Given the description of an element on the screen output the (x, y) to click on. 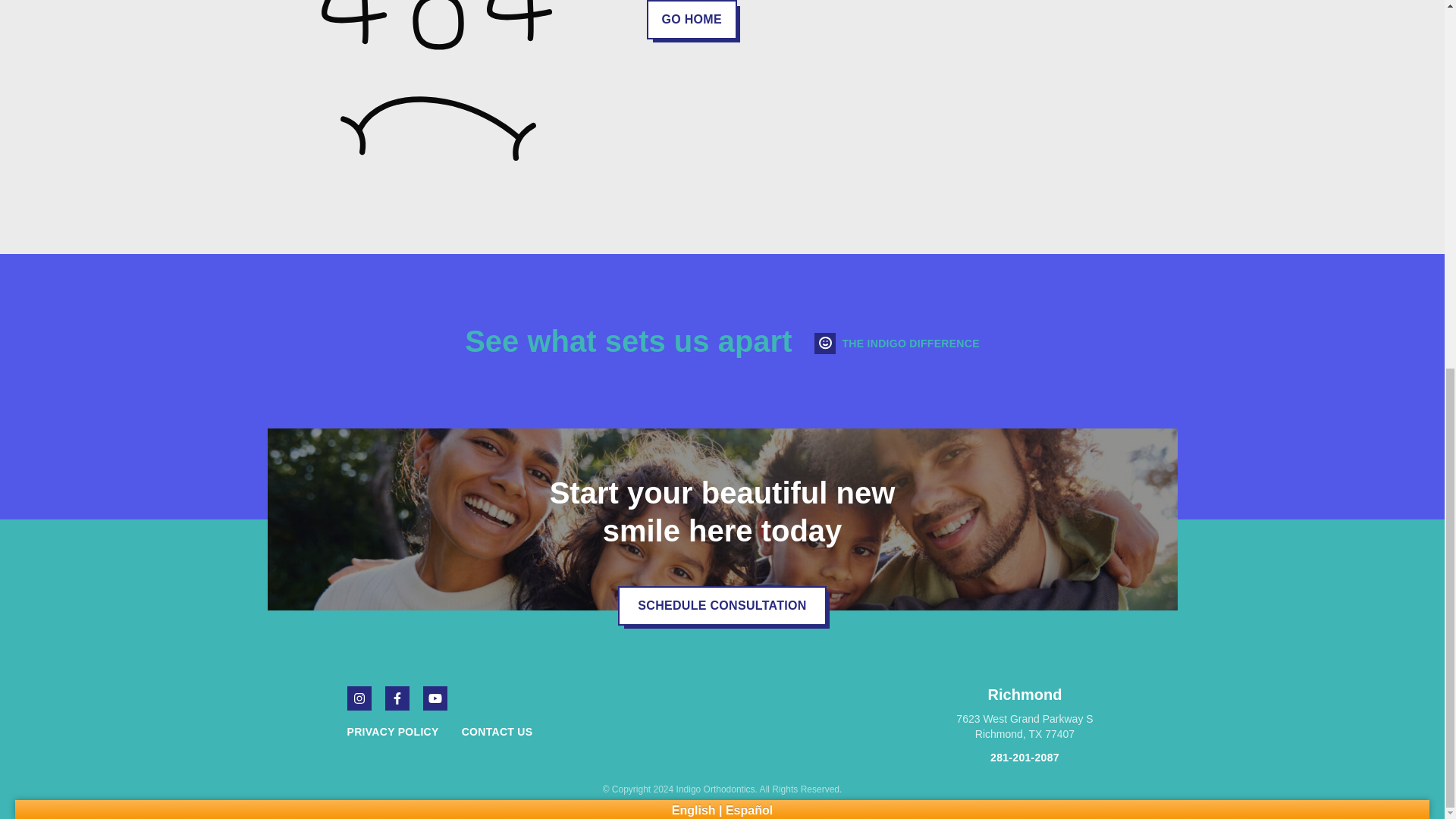
281-201-2087 (1024, 757)
SCHEDULE CONSULTATION (722, 605)
GO HOME (1024, 714)
CONTACT US (691, 19)
PRIVACY POLICY (496, 731)
THE INDIGO DIFFERENCE (393, 731)
